Given the description of an element on the screen output the (x, y) to click on. 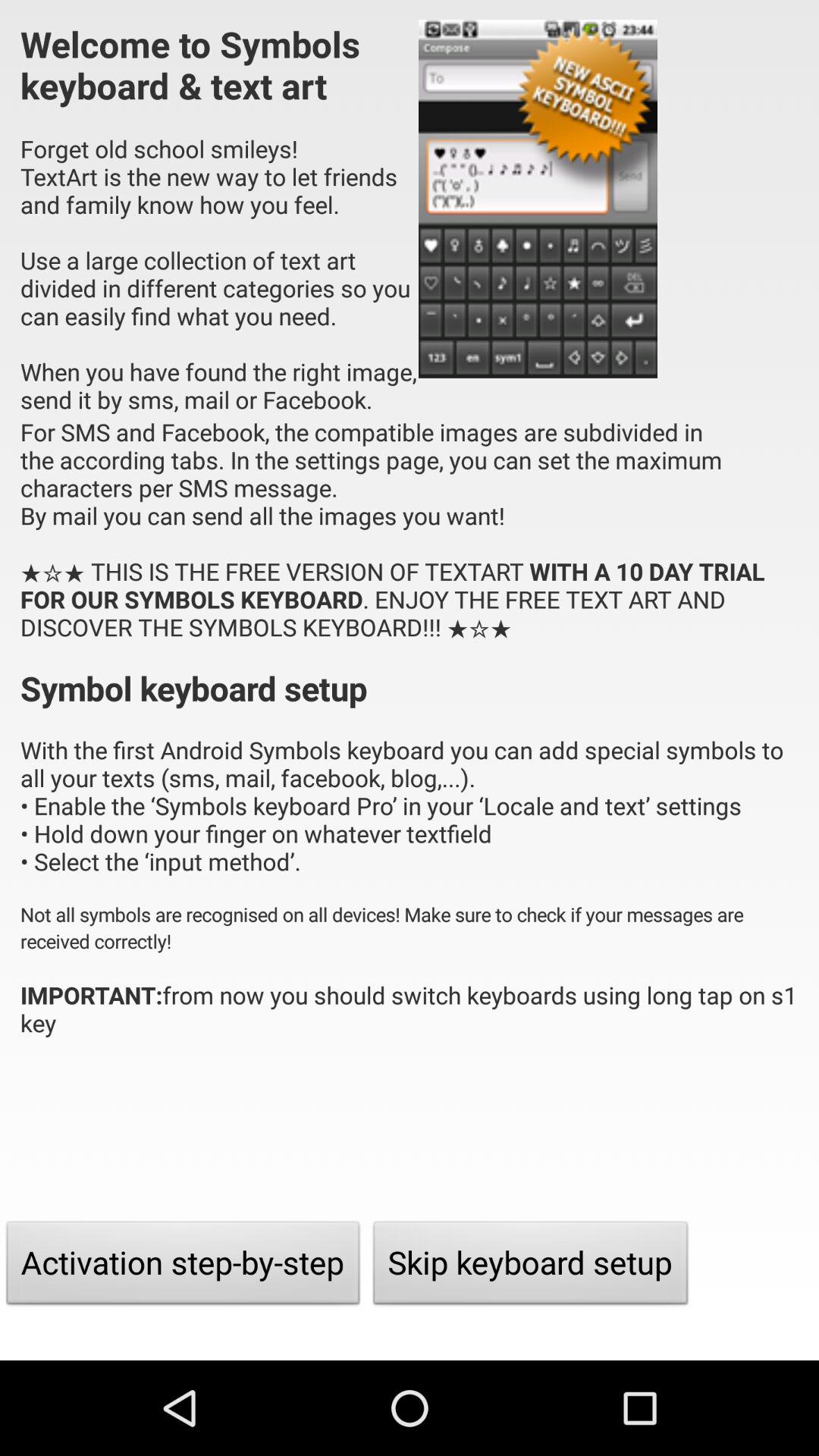
press the skip keyboard setup (530, 1266)
